Given the description of an element on the screen output the (x, y) to click on. 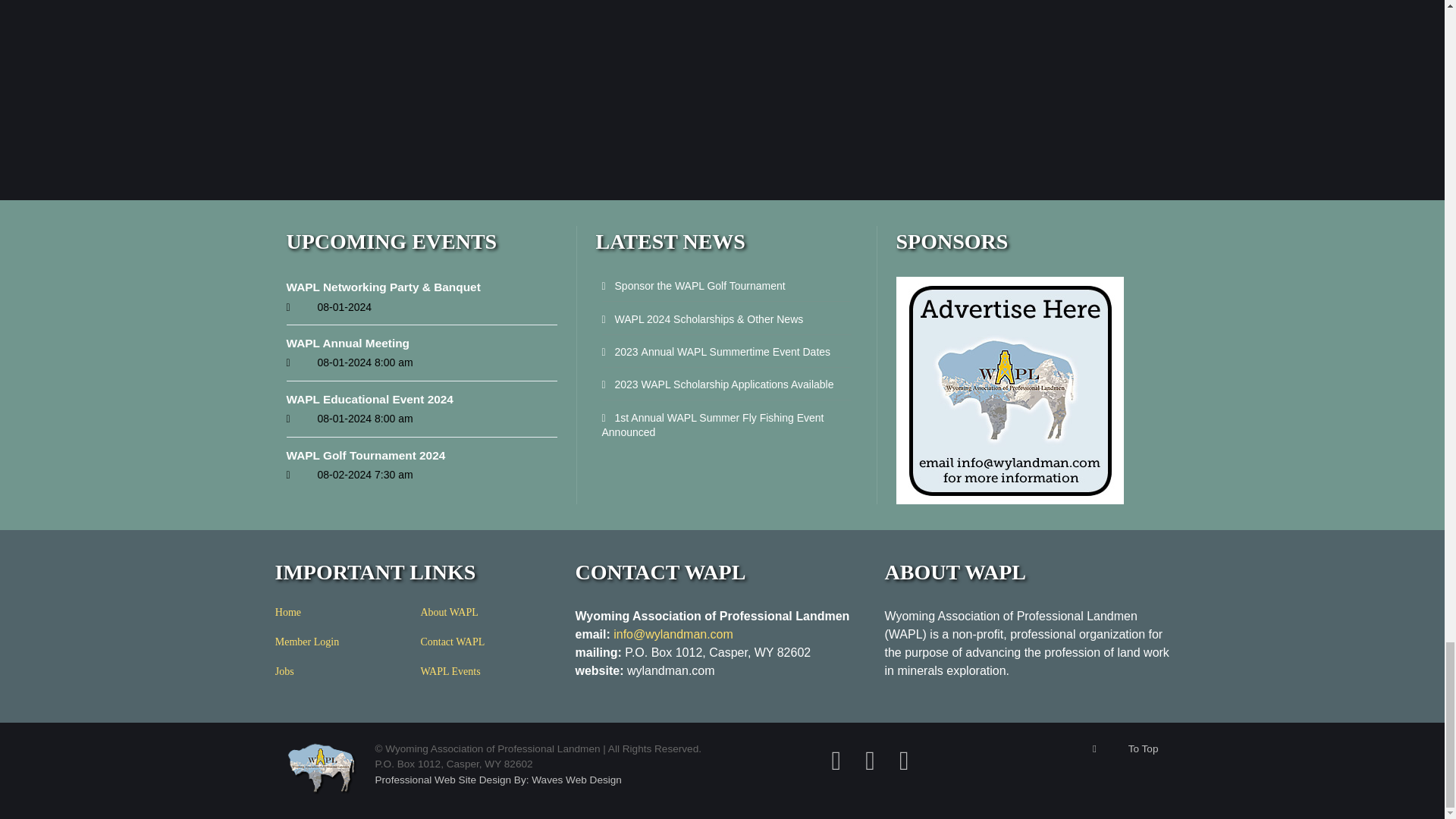
Advertise Here (1010, 389)
Professional Web Site Design for Professional Organizations (497, 779)
